Given the description of an element on the screen output the (x, y) to click on. 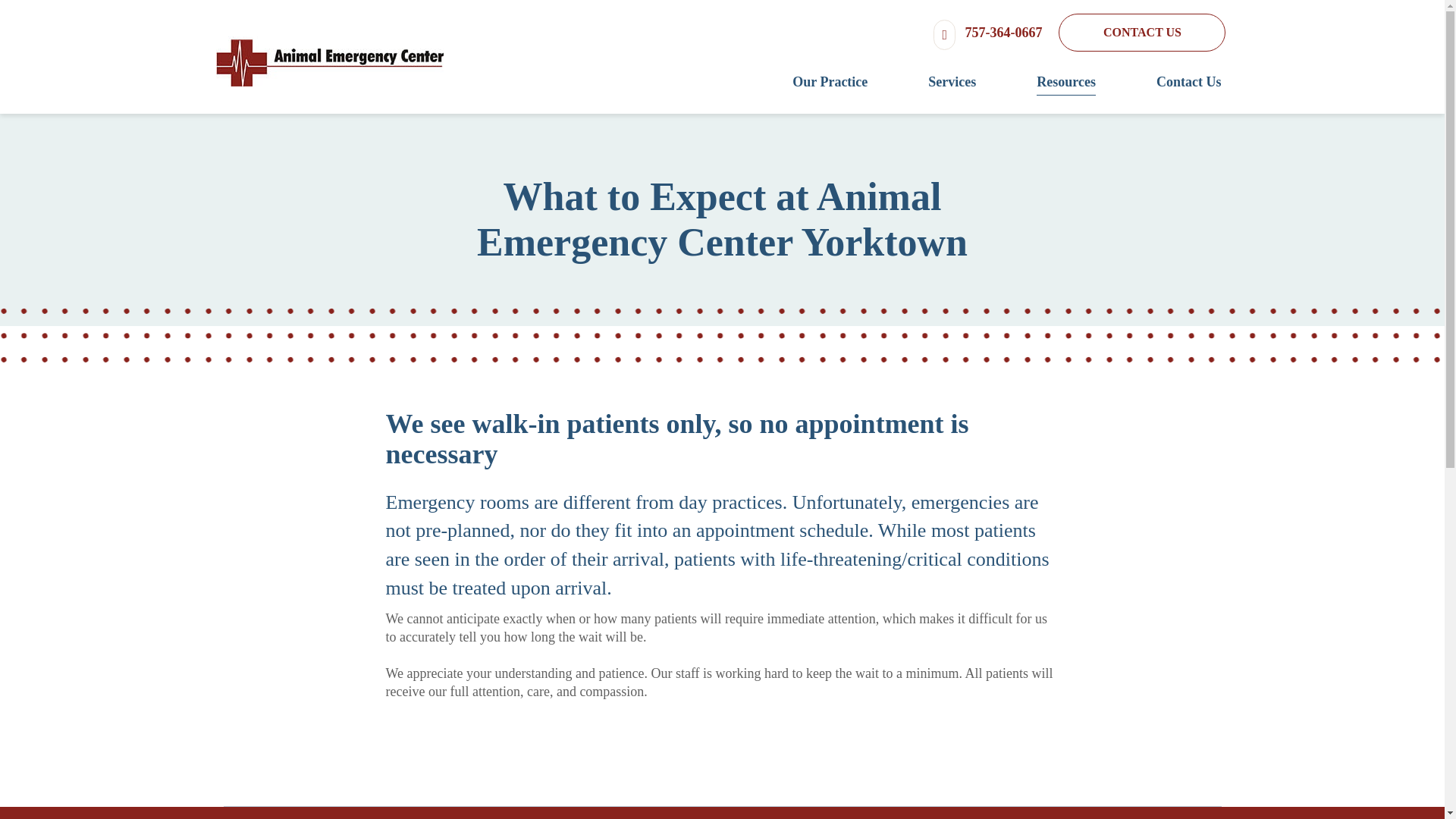
757-364-0667 (987, 32)
CONTACT US (1141, 32)
Services (921, 82)
Resources (1035, 82)
Our Practice (799, 82)
Contact Us (1158, 82)
